Given the description of an element on the screen output the (x, y) to click on. 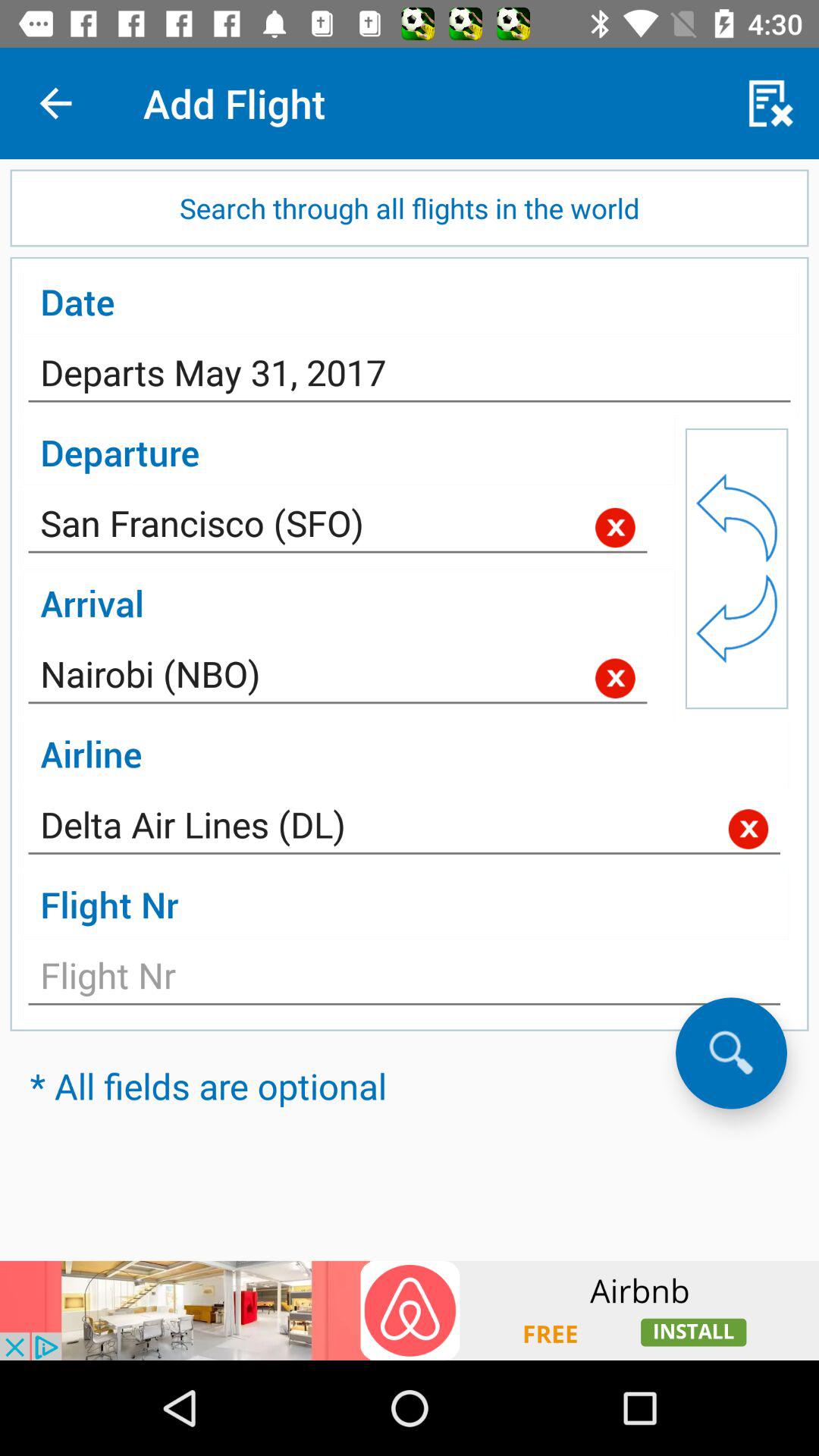
advertisement (409, 1310)
